Given the description of an element on the screen output the (x, y) to click on. 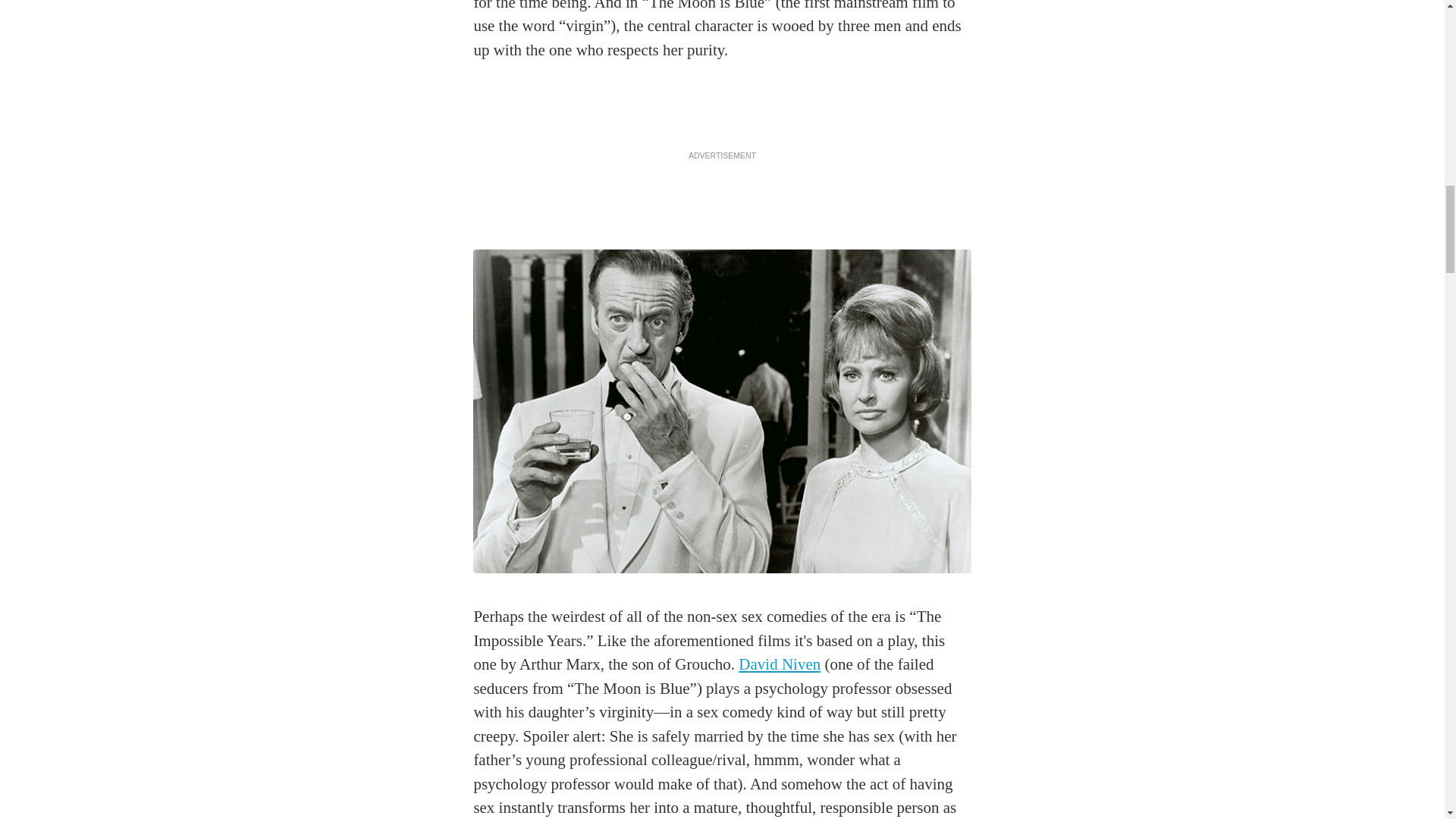
David Niven (779, 664)
